Given the description of an element on the screen output the (x, y) to click on. 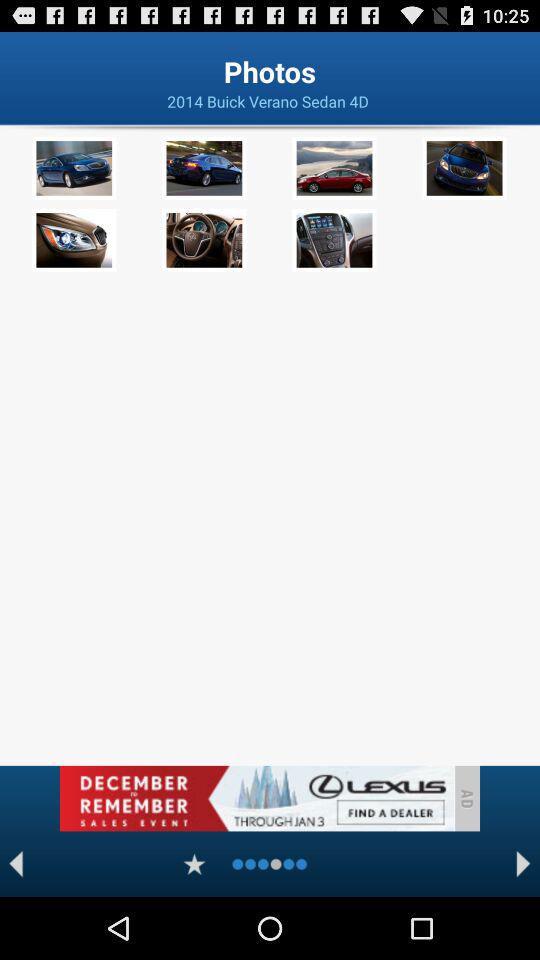
click on the last image (334, 240)
